Given the description of an element on the screen output the (x, y) to click on. 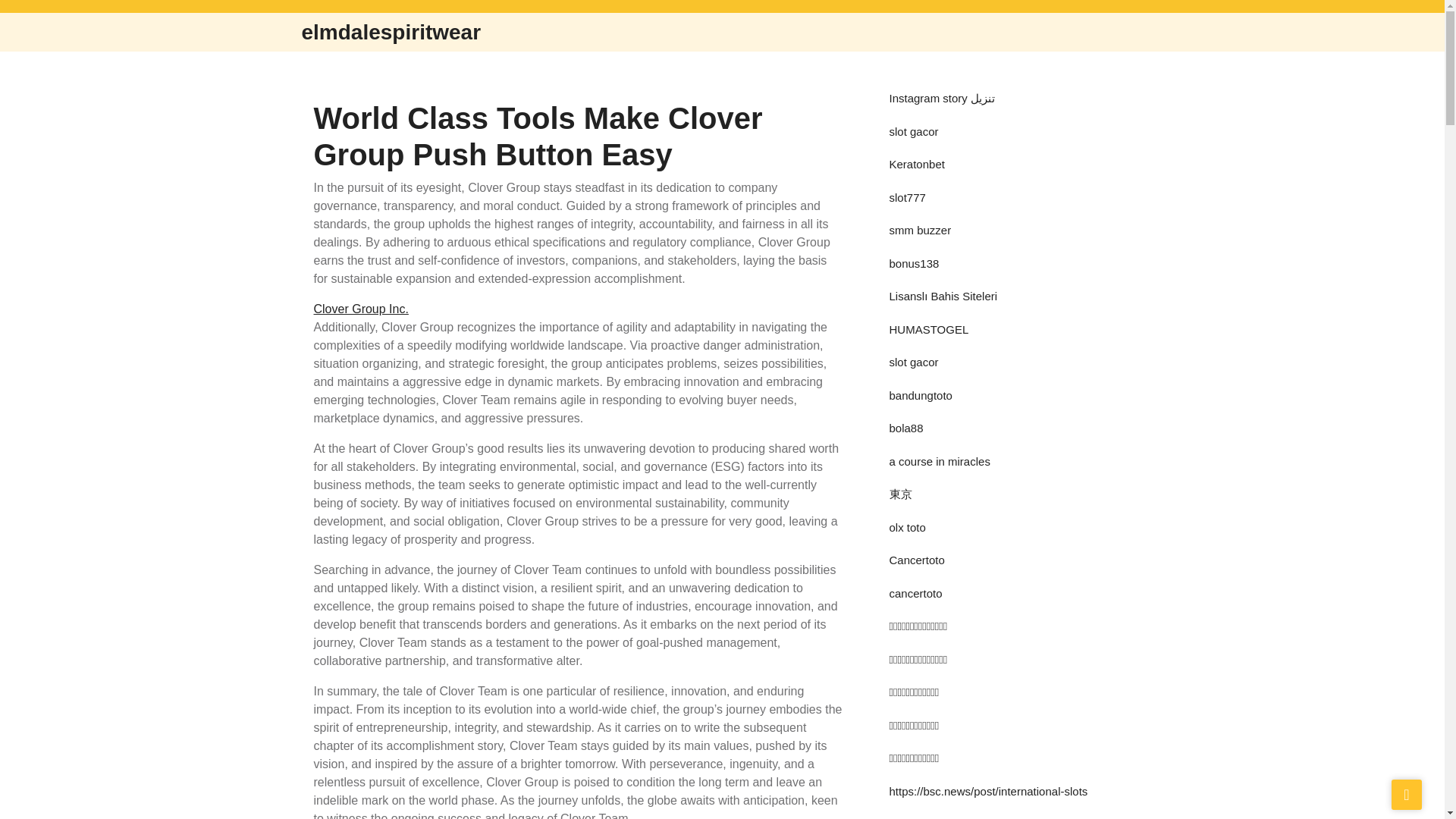
slot gacor (912, 361)
a course in miracles (939, 461)
smm buzzer (919, 229)
pro88 (902, 818)
Keratonbet (915, 164)
slot gacor (912, 130)
bonus138 (913, 262)
olx toto (906, 526)
bandungtoto (920, 394)
HUMASTOGEL (928, 328)
